Given the description of an element on the screen output the (x, y) to click on. 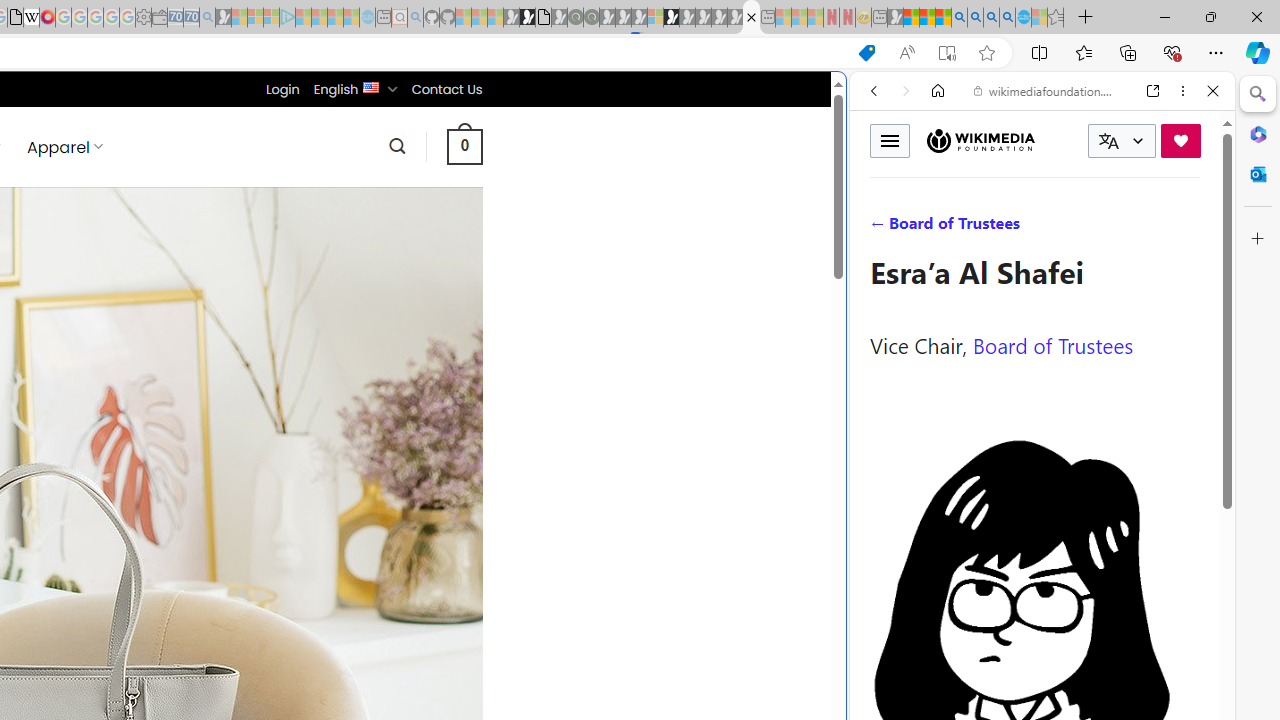
Login (281, 89)
Wiktionary (1034, 669)
English (371, 86)
MSN - Sleeping (895, 17)
wikimediafoundation.org (1045, 90)
